Given the description of an element on the screen output the (x, y) to click on. 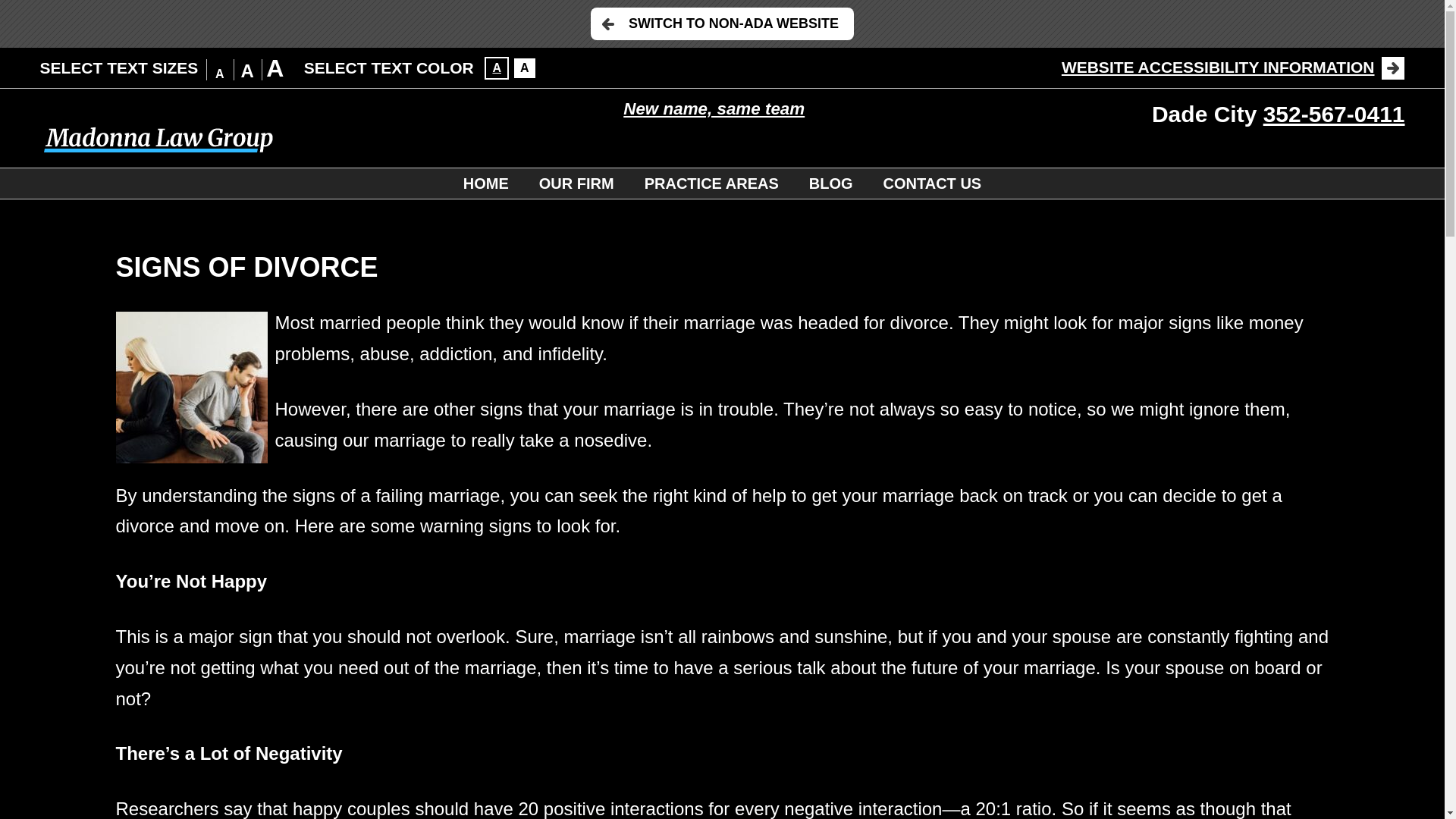
SWITCH TO NON-ADA WEBSITE (722, 23)
A (496, 67)
New name, same team (714, 108)
HOME (486, 183)
OUR FIRM (576, 183)
Invert Colors (524, 67)
DifficultSpouse (190, 387)
Click to view external accessibility article (1233, 67)
WEBSITE ACCESSIBILITY INFORMATION (1233, 67)
352-567-0411 (1334, 113)
PRACTICE AREAS (710, 183)
Invert Colors (496, 67)
A (524, 67)
